Given the description of an element on the screen output the (x, y) to click on. 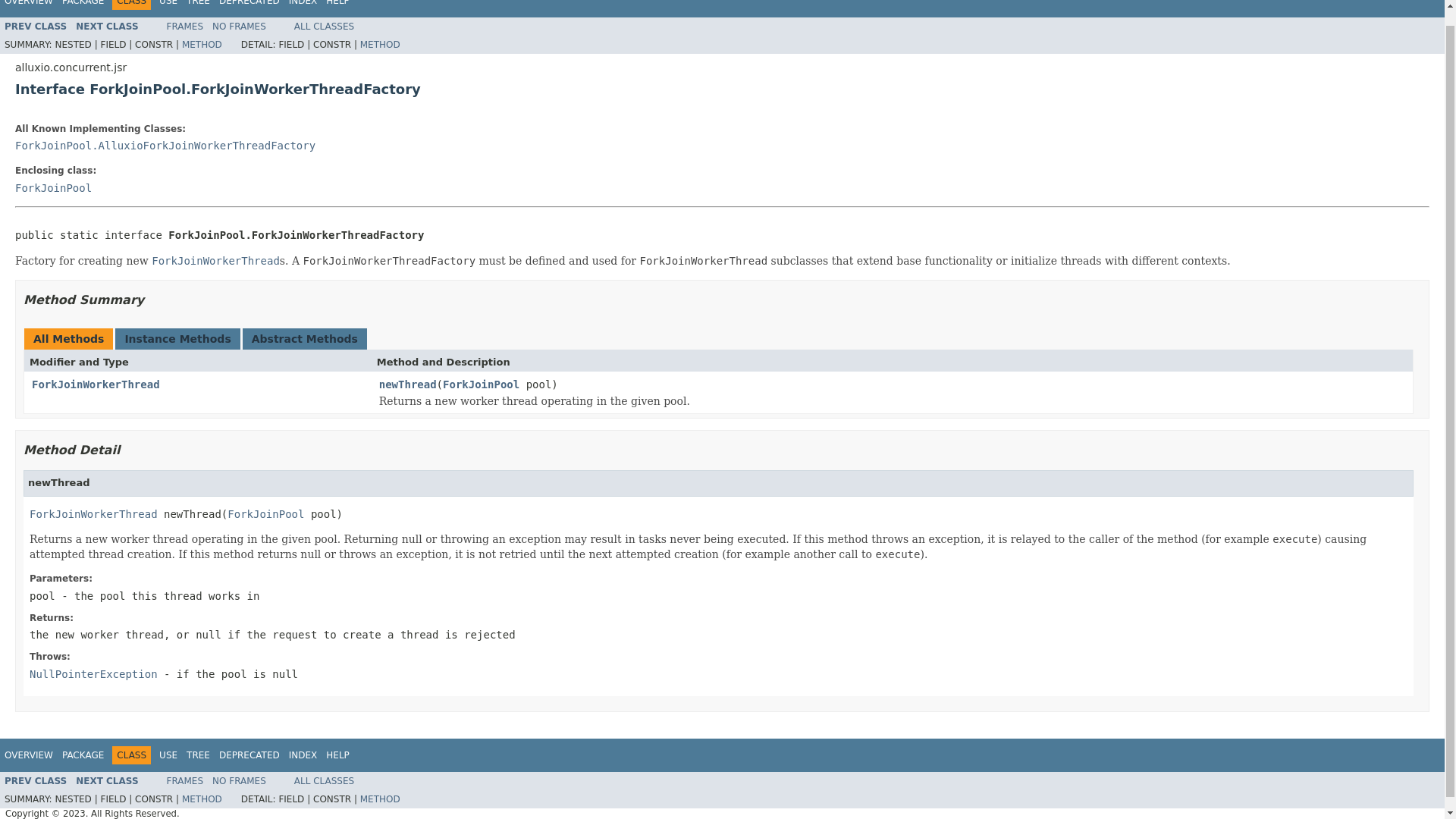
METHOD (202, 44)
ForkJoinWorkerThread (96, 384)
Interface ForkJoinPool.ForkJoinWorkerThreadFactory (721, 89)
USE (167, 755)
PACKAGE (82, 2)
class or interface in java.lang (93, 674)
NEXT CLASS (106, 26)
METHOD (379, 44)
PACKAGE (82, 755)
class in alluxio.concurrent.jsr (35, 780)
OVERVIEW (28, 755)
newThread (407, 385)
class in alluxio.concurrent.jsr (265, 512)
DEPRECATED (249, 755)
NO FRAMES (239, 26)
